Given the description of an element on the screen output the (x, y) to click on. 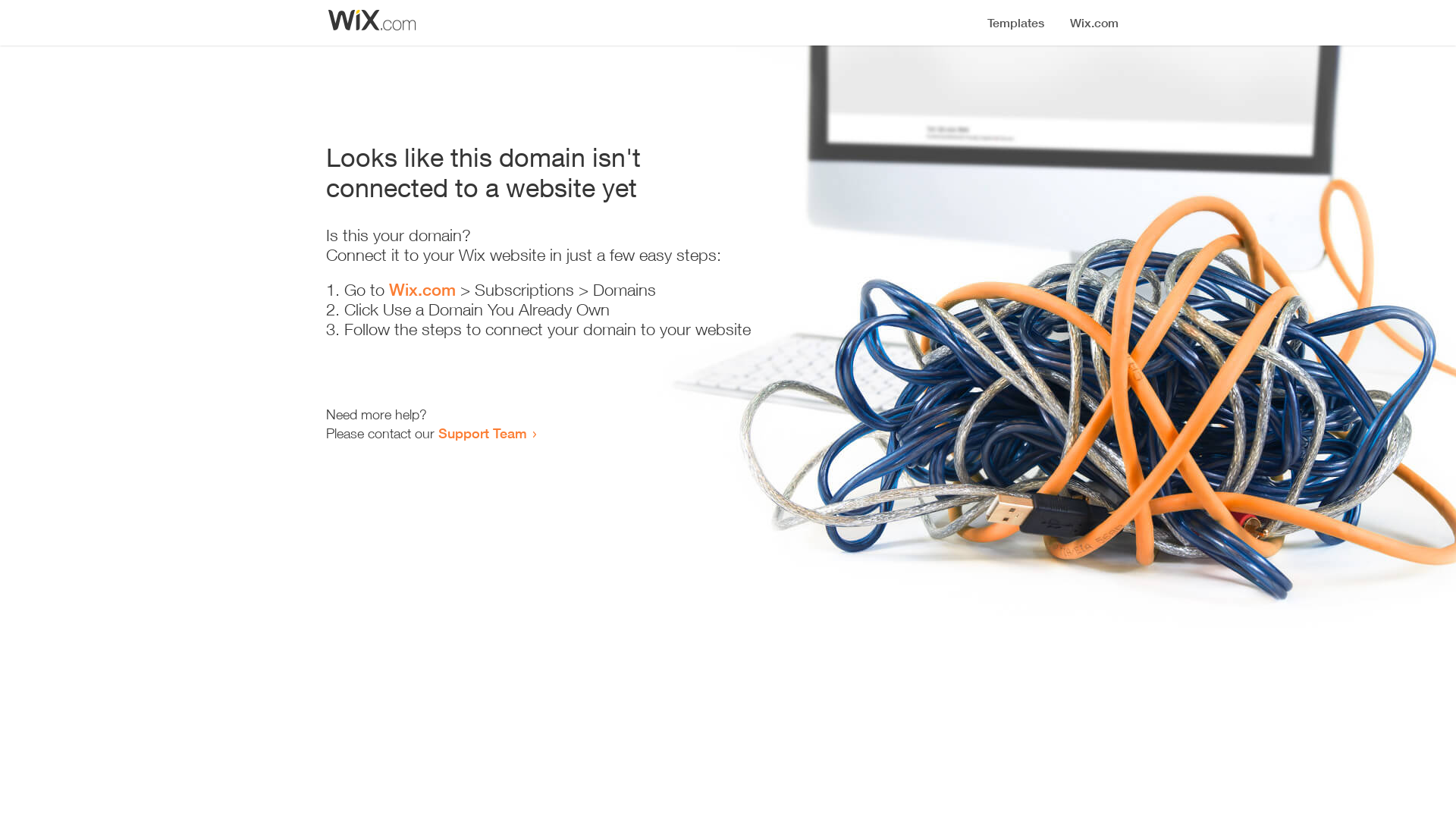
Support Team Element type: text (482, 432)
Wix.com Element type: text (422, 289)
